Given the description of an element on the screen output the (x, y) to click on. 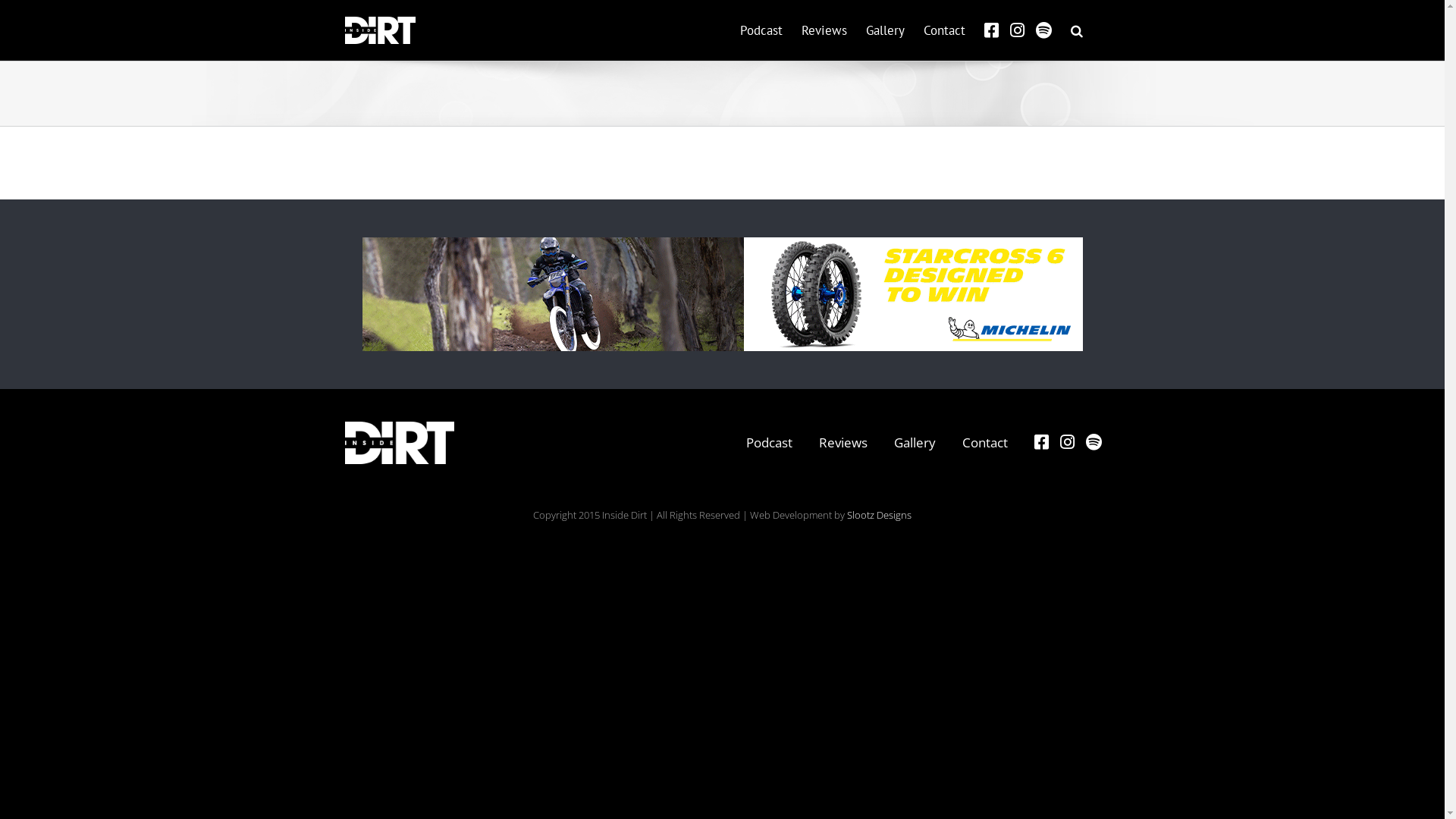
Contact Element type: text (984, 442)
Slootz Designs Element type: text (879, 514)
Contact Element type: text (944, 30)
Podcast Element type: text (769, 442)
Gallery Element type: text (914, 442)
Inside-dirt-logo@2x Element type: hover (399, 442)
Gallery Element type: text (885, 30)
Search Element type: hover (1076, 30)
Reviews Element type: text (823, 30)
Podcast Element type: text (761, 30)
Reviews Element type: text (843, 442)
